Given the description of an element on the screen output the (x, y) to click on. 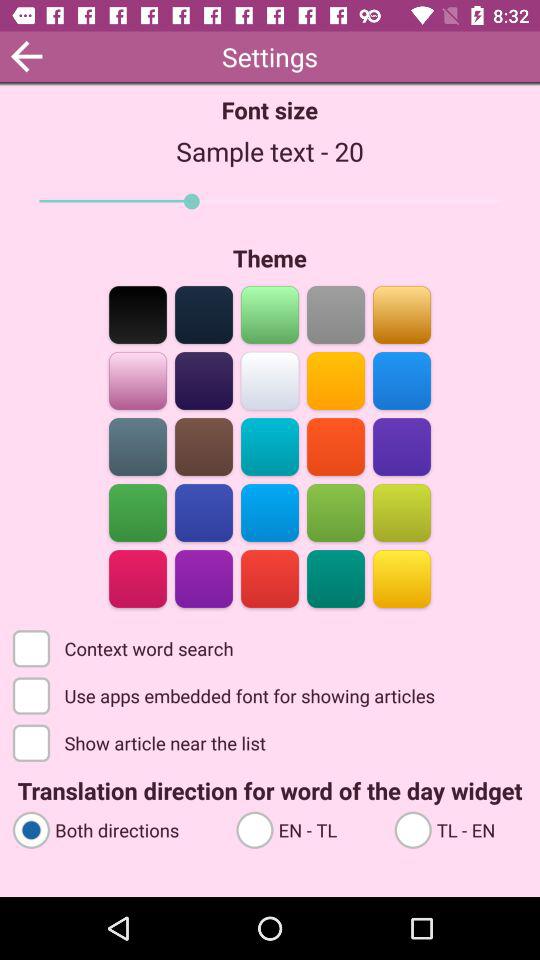
set the theme to black (137, 313)
